Given the description of an element on the screen output the (x, y) to click on. 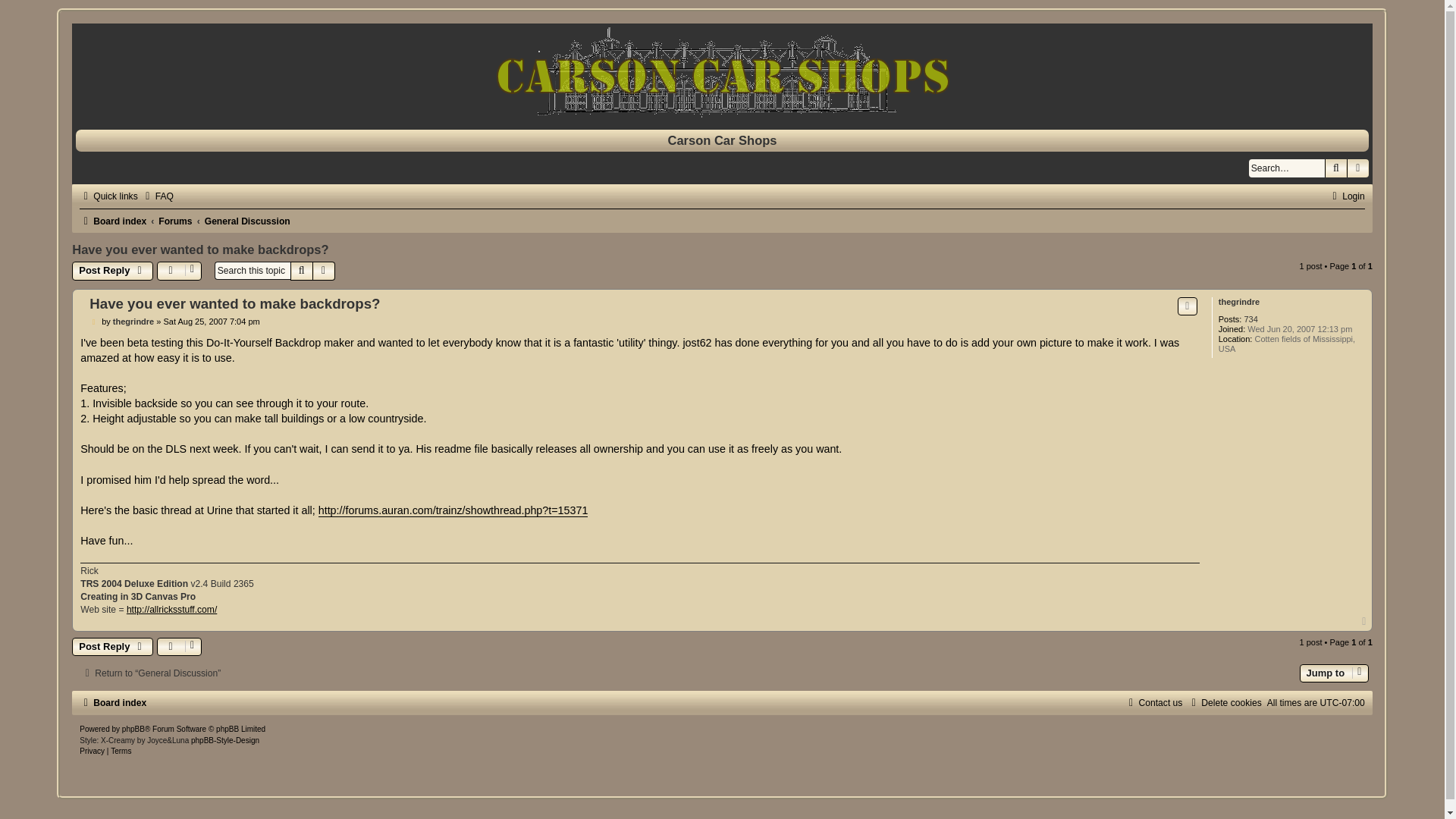
Board index (721, 72)
thegrindre (133, 320)
Post Reply (111, 270)
Topic tools (179, 647)
Search for keywords (1286, 167)
Reply with quote (1186, 306)
Post (94, 320)
Advanced search (1358, 167)
Advanced search (323, 270)
Advanced search (1358, 167)
Post Reply (111, 647)
Post a reply (111, 647)
Post a reply (111, 270)
Topic tools (179, 270)
Login (1346, 195)
